Given the description of an element on the screen output the (x, y) to click on. 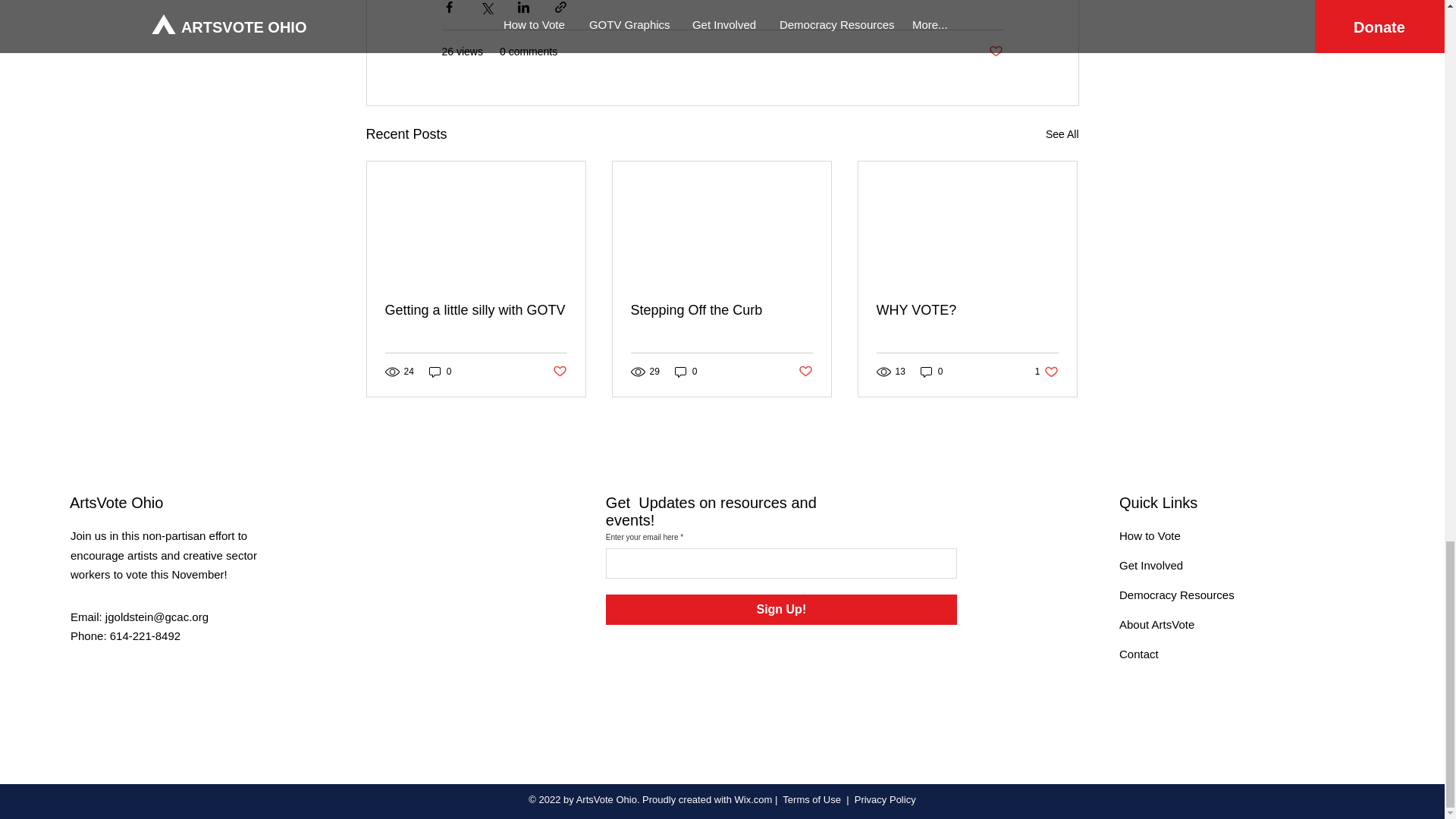
How to Vote (1149, 535)
Post not marked as liked (804, 371)
Post not marked as liked (558, 371)
See All (1061, 134)
0 (1046, 371)
Getting a little silly with GOTV (685, 371)
Stepping Off the Curb (476, 310)
WHY VOTE? (721, 310)
0 (967, 310)
Post not marked as liked (931, 371)
0 (995, 51)
Sign Up! (440, 371)
